Given the description of an element on the screen output the (x, y) to click on. 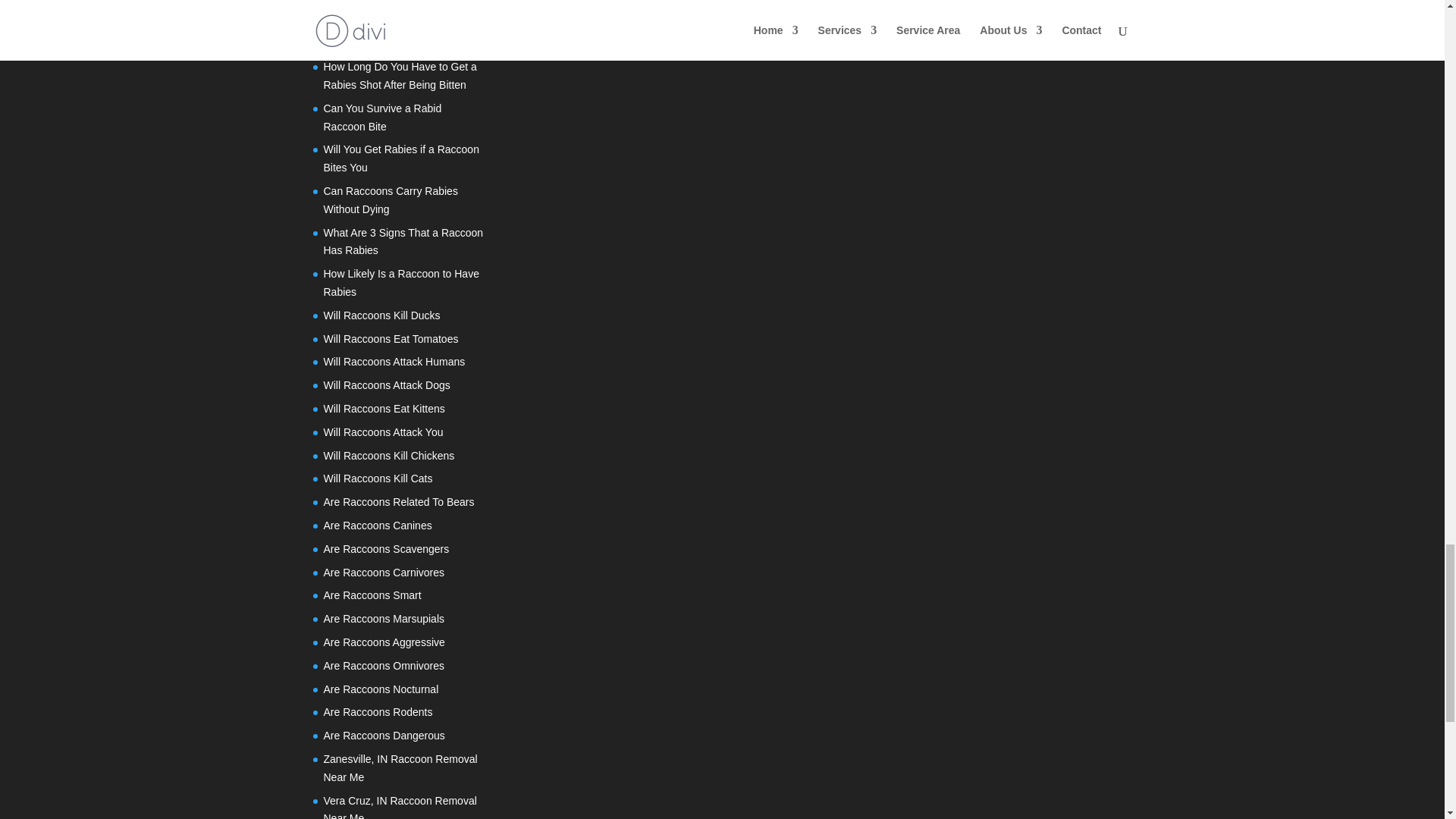
Will You Get Rabies if a Raccoon Bites You (401, 158)
How Long Do You Have to Get a Rabies Shot After Being Bitten (399, 75)
Can Raccoons Carry Rabies Without Dying (390, 200)
Can You Survive a Rabid Raccoon Bite (382, 117)
Are Raccoons Born With Rabies? (402, 42)
